Given the description of an element on the screen output the (x, y) to click on. 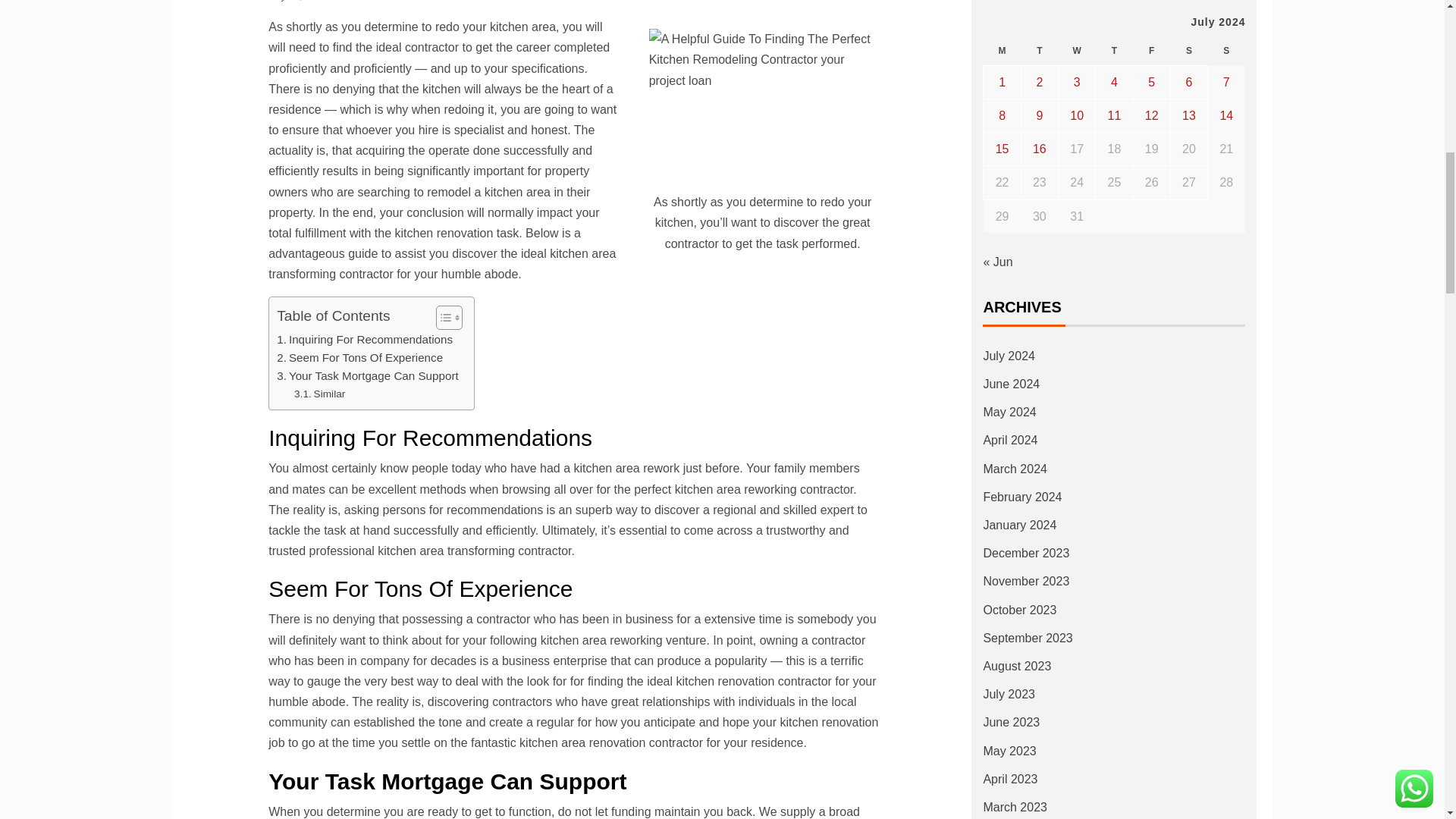
Your Task Mortgage Can Support (367, 375)
Inquiring For Recommendations (364, 339)
Similar (319, 393)
Similar (319, 393)
Seem For Tons Of Experience (359, 357)
Seem For Tons Of Experience (359, 357)
Your Task Mortgage Can Support (367, 375)
Inquiring For Recommendations (364, 339)
